Given the description of an element on the screen output the (x, y) to click on. 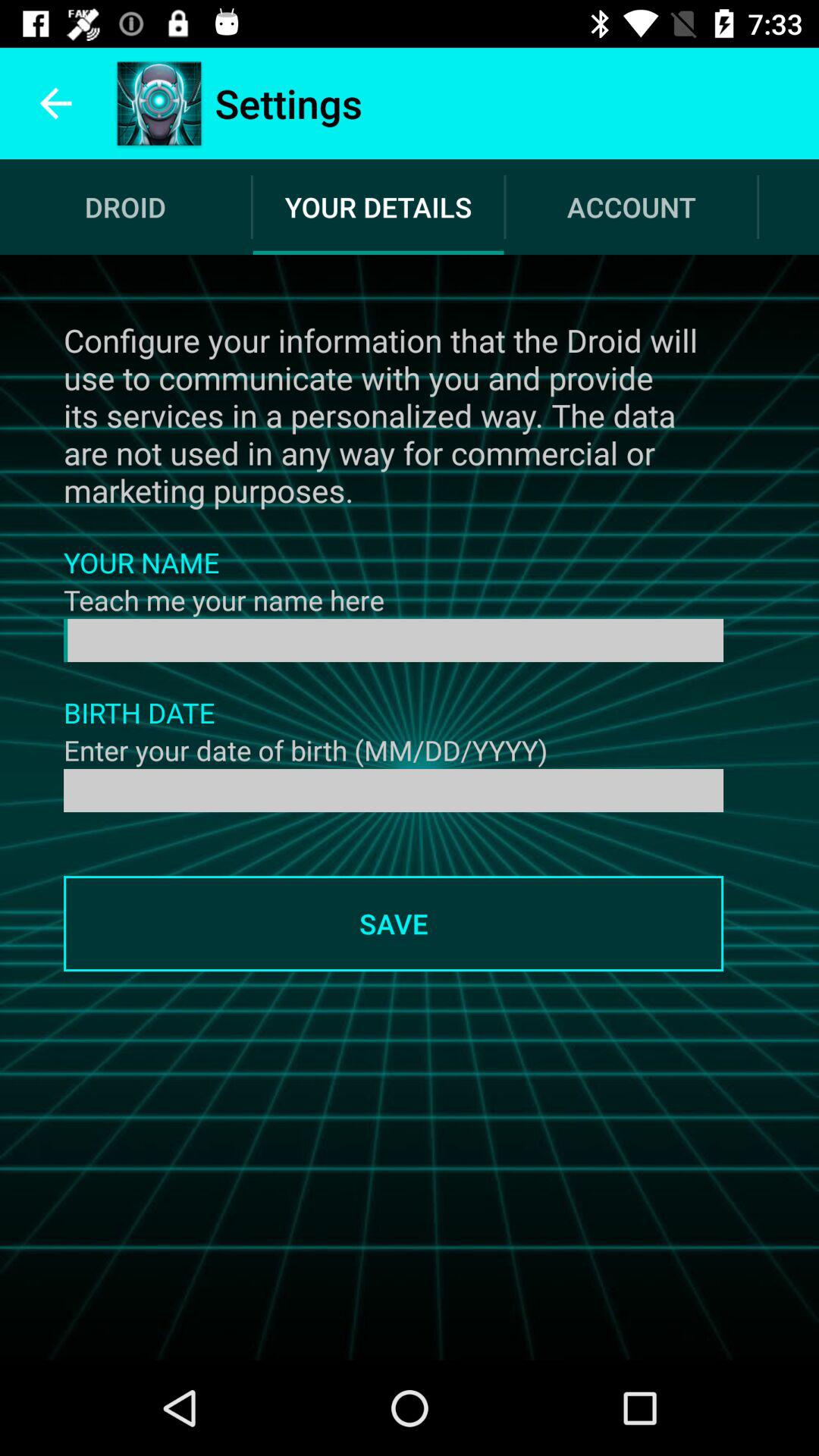
enter name (393, 640)
